Given the description of an element on the screen output the (x, y) to click on. 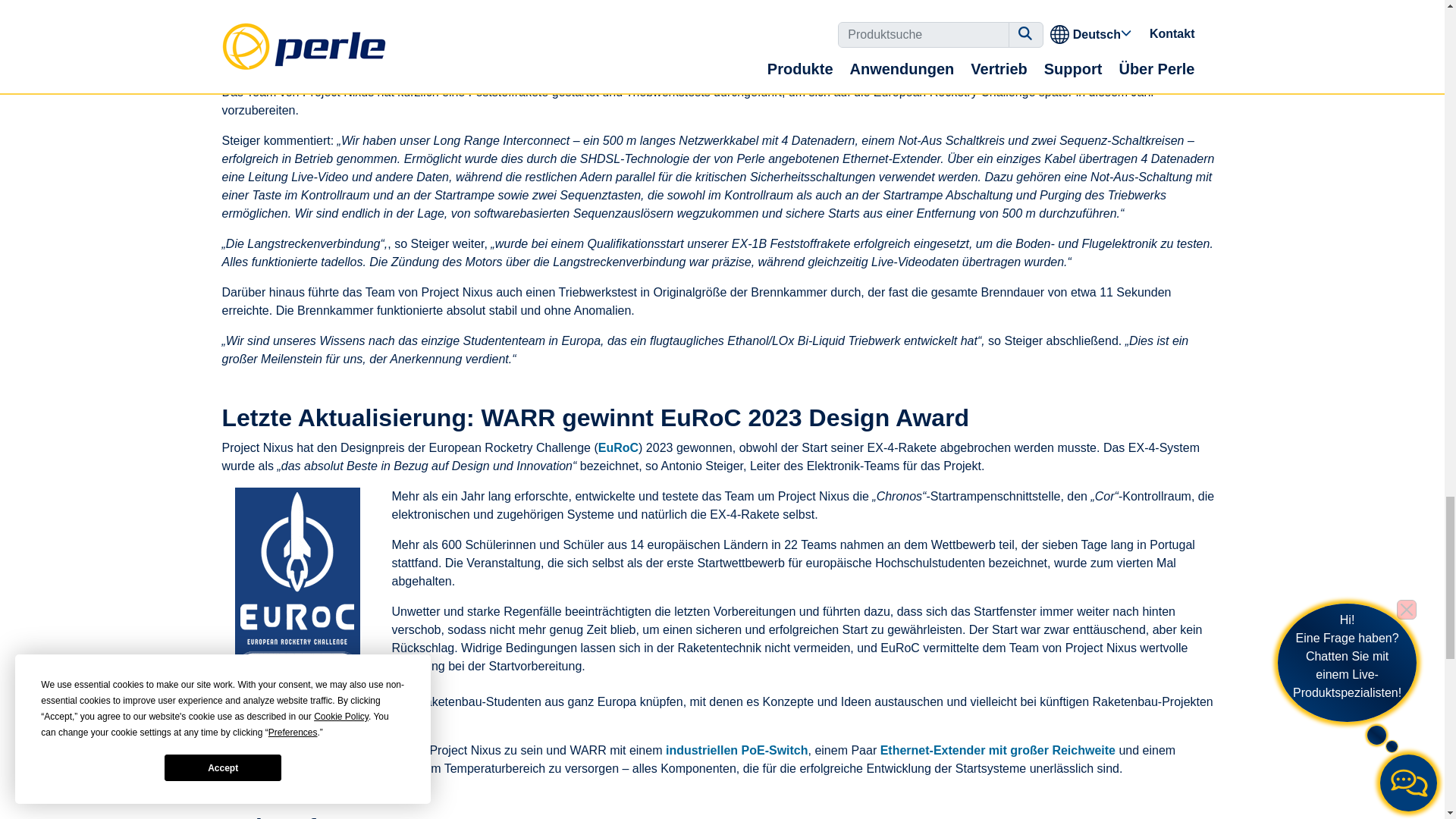
industriellen PoE-Switch (736, 749)
EuRoC (618, 447)
